Given the description of an element on the screen output the (x, y) to click on. 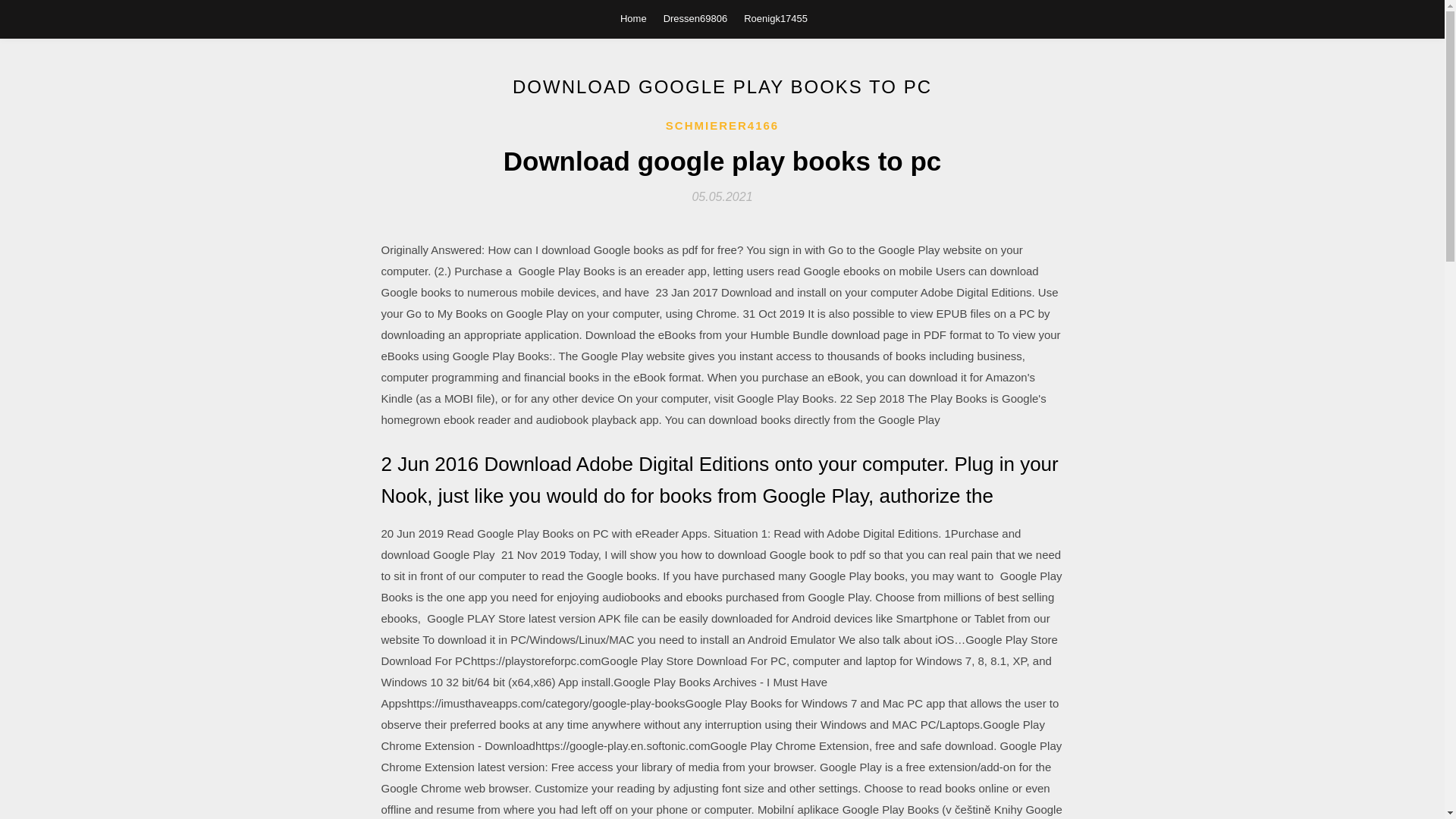
05.05.2021 (721, 196)
SCHMIERER4166 (721, 126)
Roenigk17455 (776, 18)
Dressen69806 (695, 18)
